Given the description of an element on the screen output the (x, y) to click on. 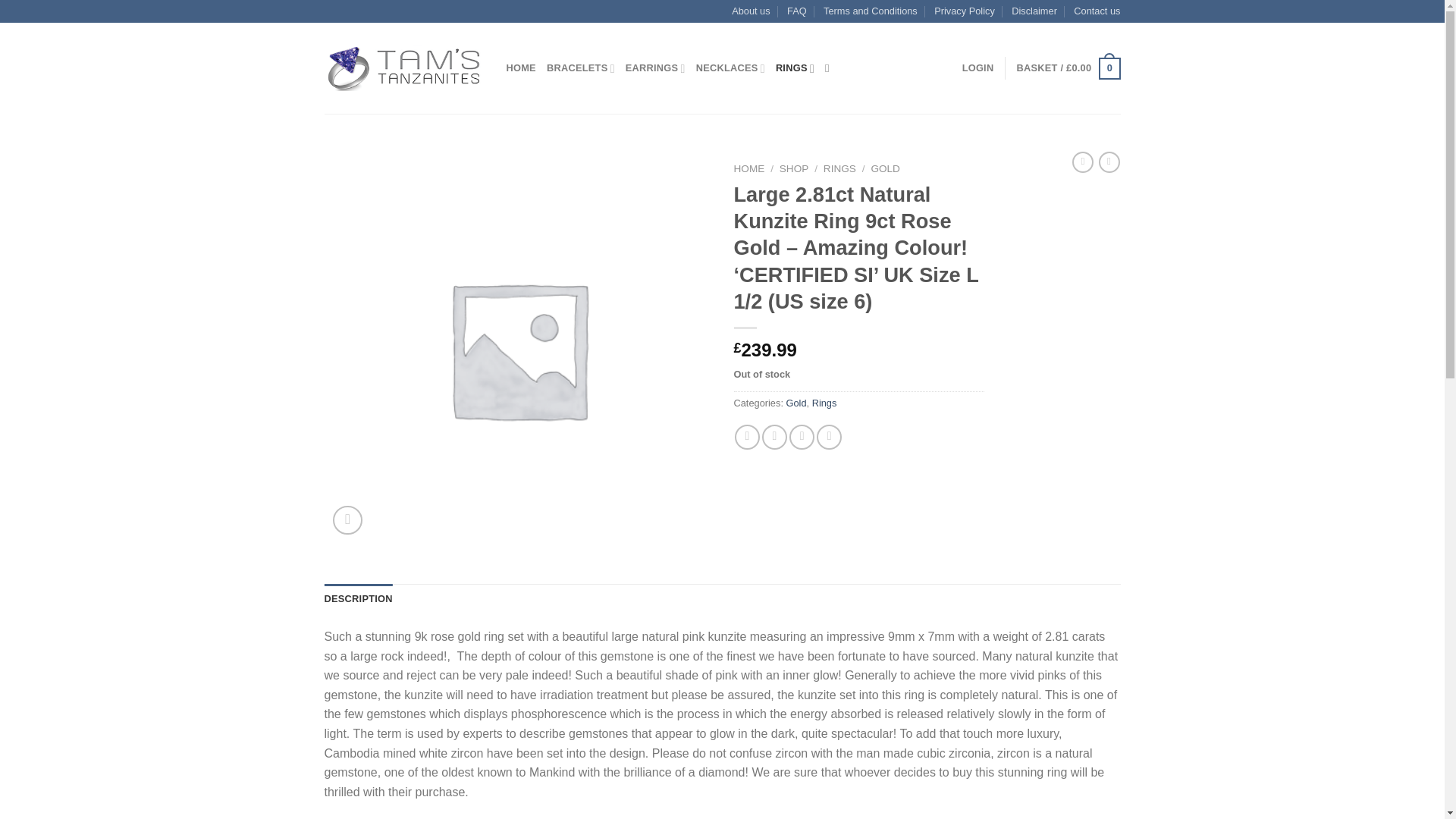
Zoom (347, 520)
HOME (749, 168)
RINGS (794, 68)
EARRINGS (655, 68)
Contact us (1096, 11)
Terms and Conditions (870, 11)
Basket (1067, 68)
RINGS (840, 168)
BRACELETS (580, 68)
Pin on Pinterest (828, 437)
